Given the description of an element on the screen output the (x, y) to click on. 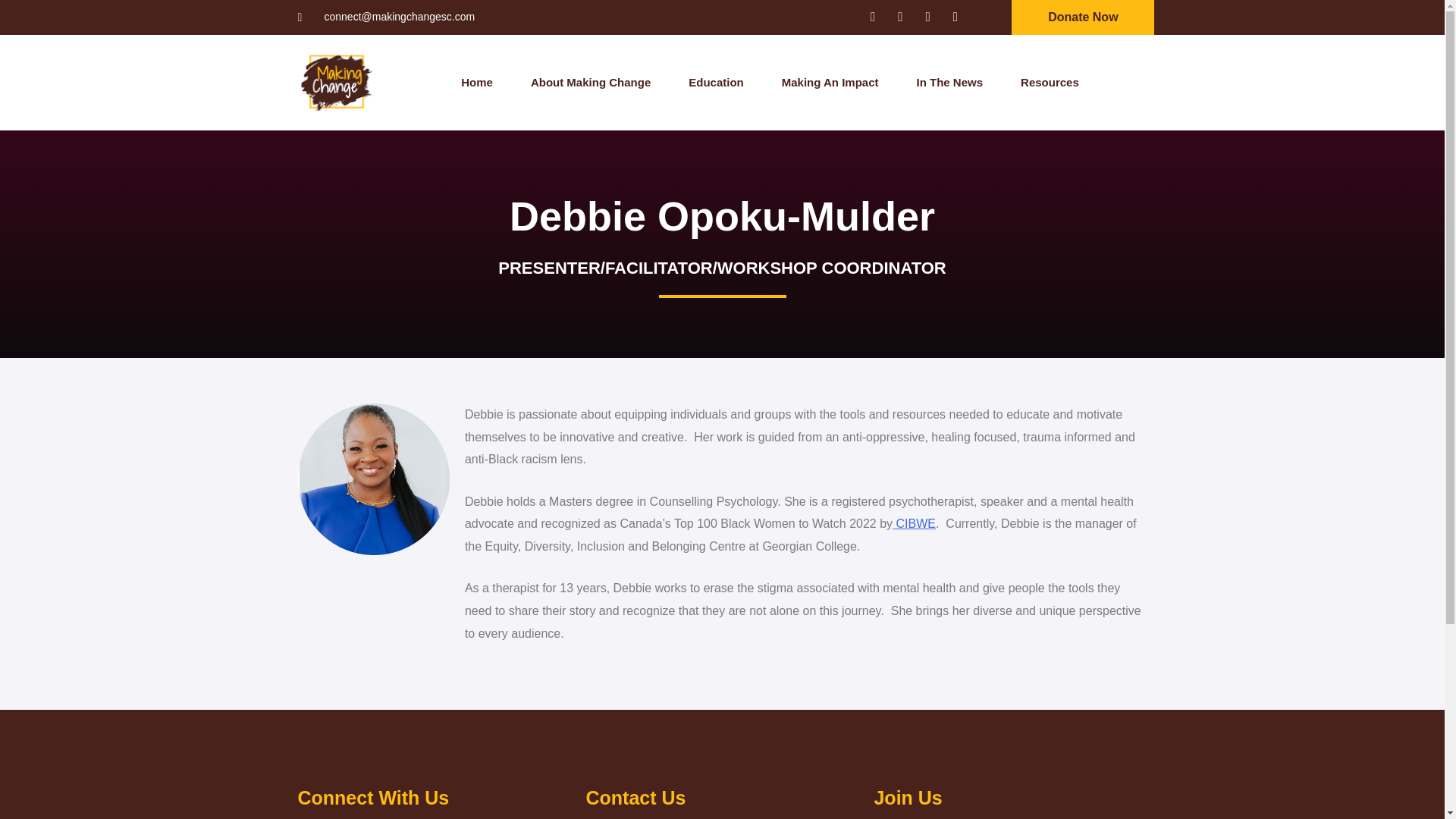
Donate Now (1083, 16)
Education (716, 82)
About Making Change (590, 82)
Resources (1049, 82)
Home (477, 82)
In The News (950, 82)
Making An Impact (830, 82)
